Given the description of an element on the screen output the (x, y) to click on. 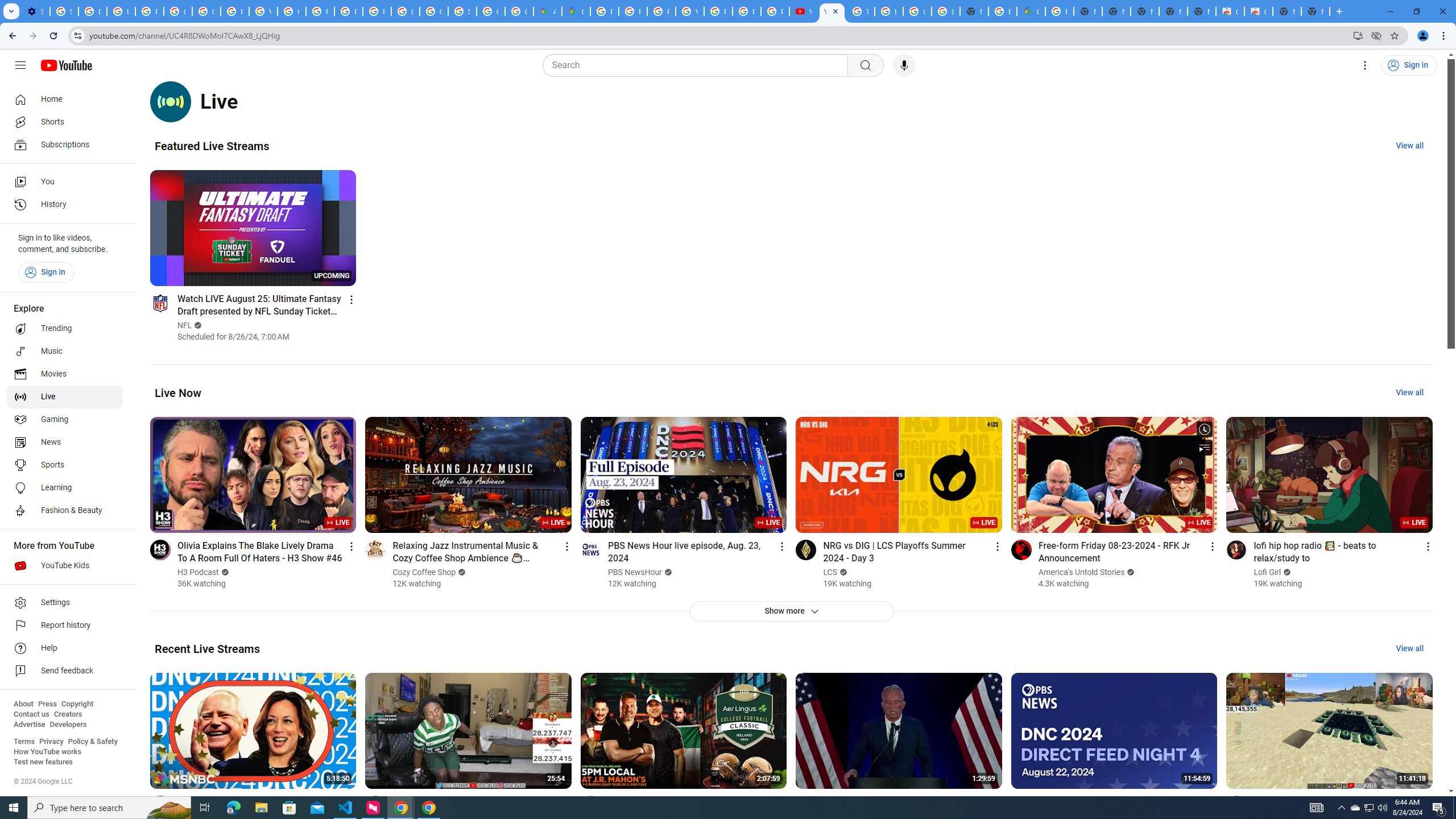
Gaming (64, 419)
Featured Live Streams (211, 145)
Send feedback (64, 671)
Privacy Help Center - Policies Help (320, 11)
Trending (64, 328)
Privacy Help Center - Policies Help (632, 11)
